Given the description of an element on the screen output the (x, y) to click on. 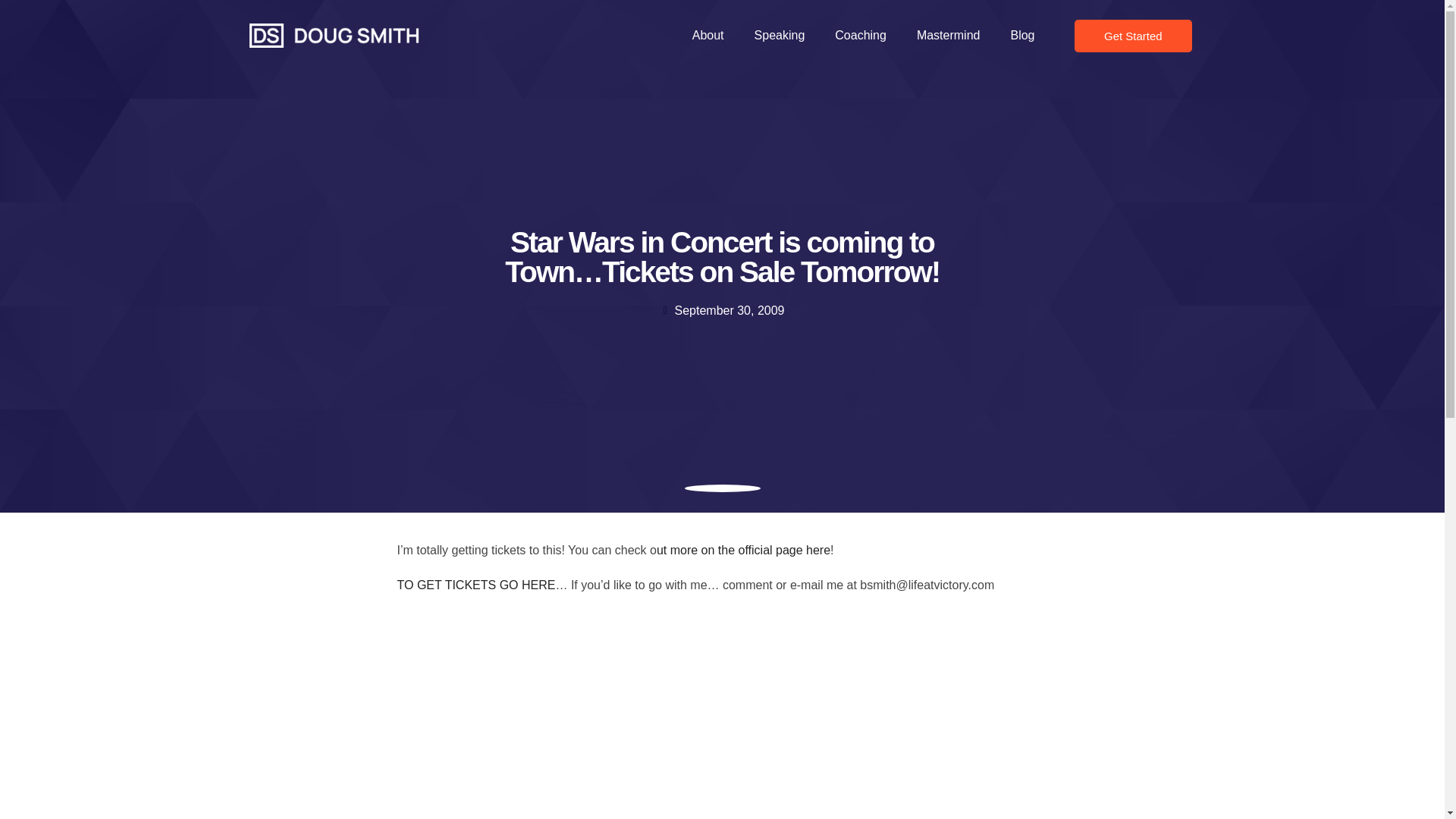
Coaching (860, 35)
ut more on the official page here (742, 549)
Doug-Smith-Logo (333, 35)
Get Started (1133, 35)
TO GET TICKETS GO HERE (476, 584)
Blog (1021, 35)
Speaking (780, 35)
About (708, 35)
Mastermind (948, 35)
September 30, 2009 (721, 311)
